Given the description of an element on the screen output the (x, y) to click on. 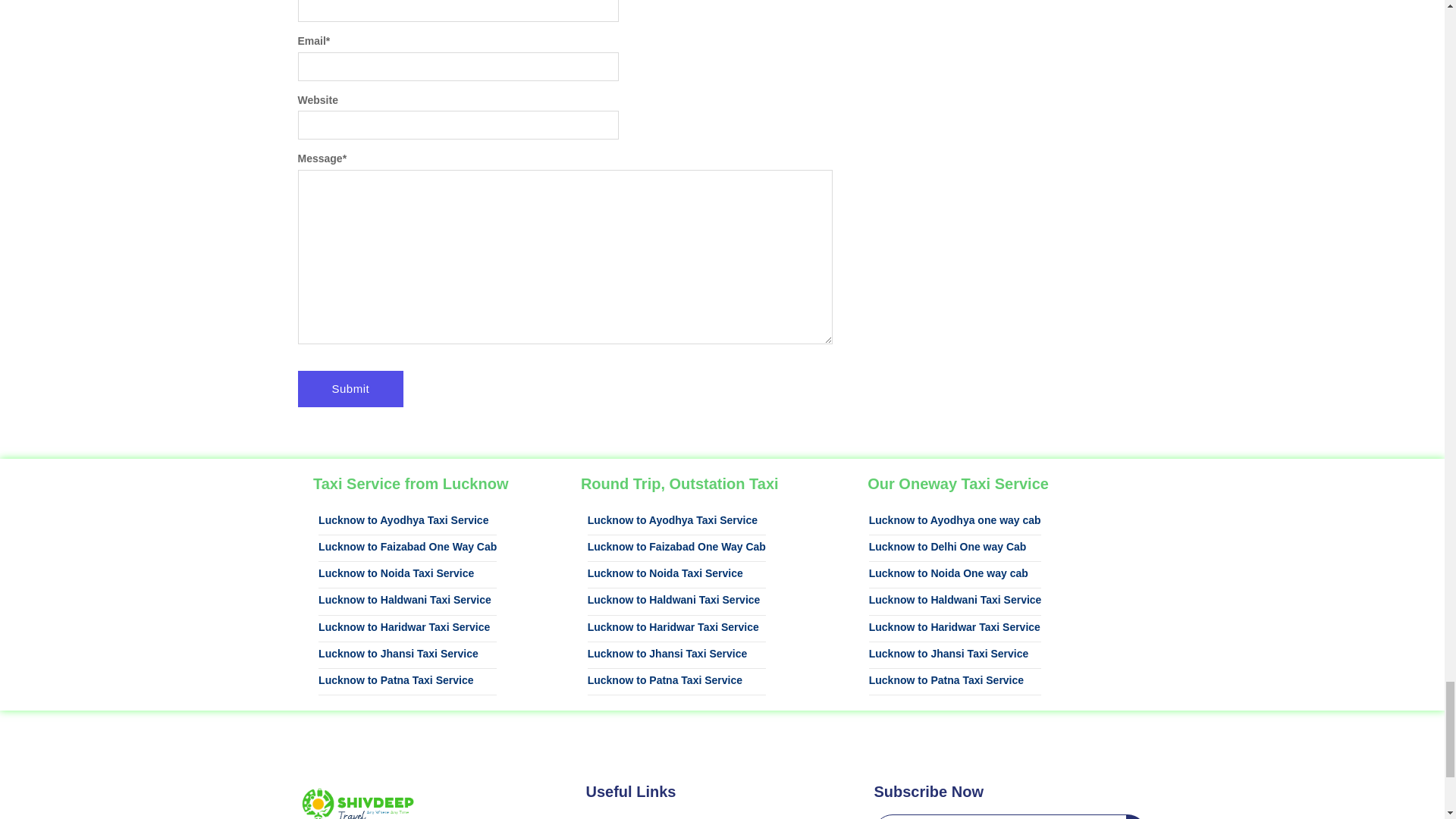
Submit (350, 389)
